Given the description of an element on the screen output the (x, y) to click on. 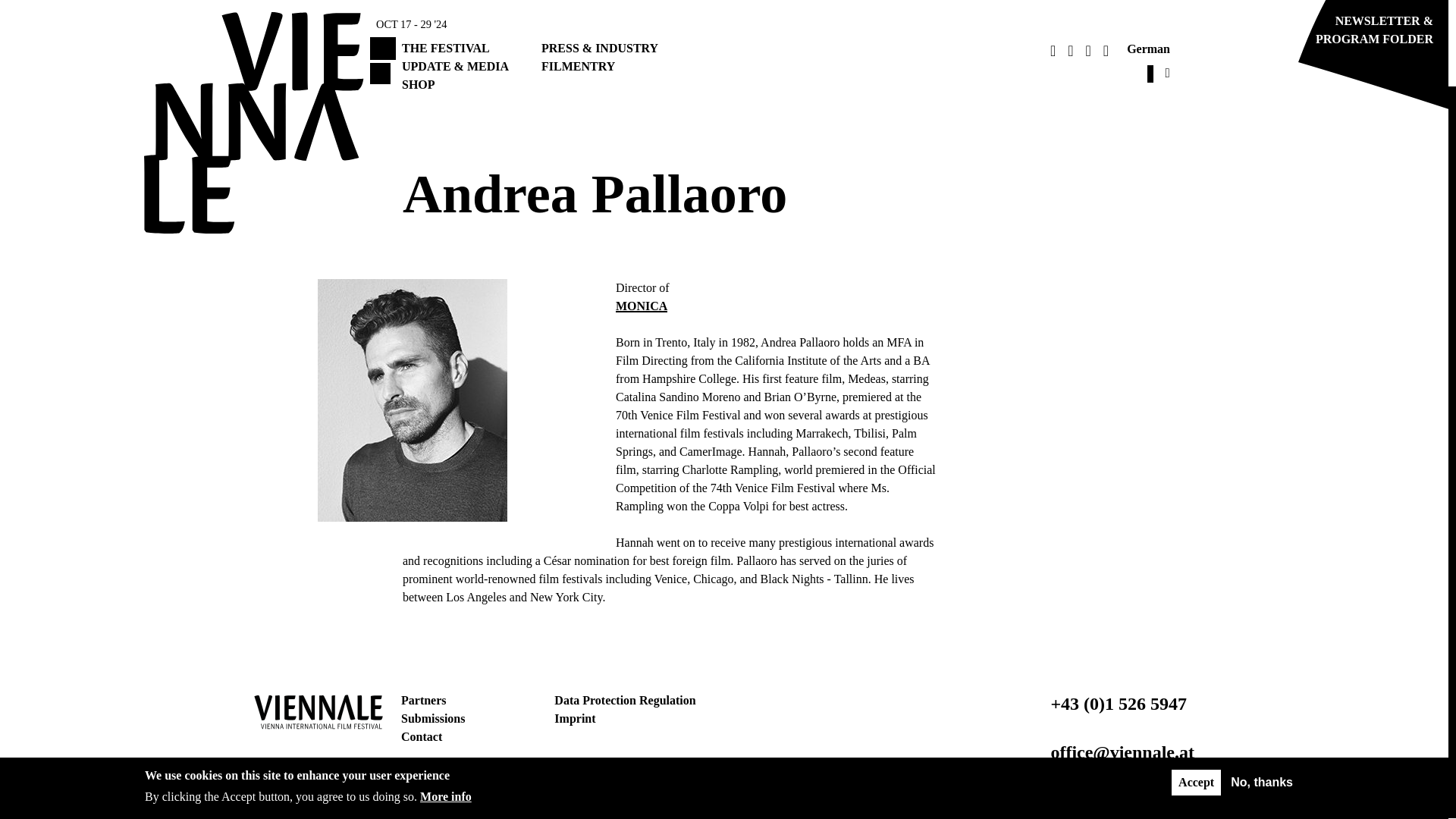
MONICA (640, 305)
Search (890, 2)
